Given the description of an element on the screen output the (x, y) to click on. 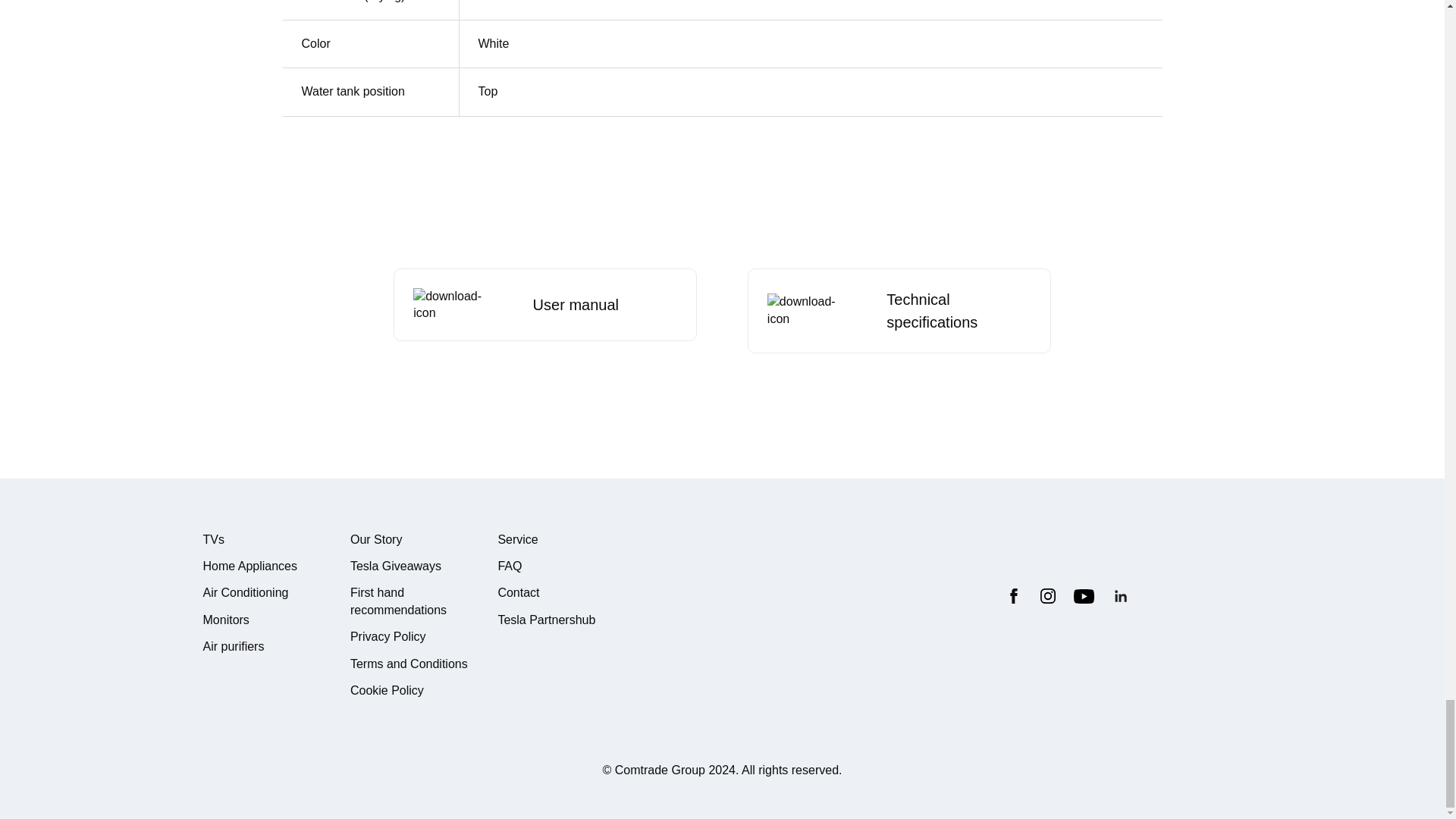
instagram (1048, 595)
youtube (1084, 595)
facebook (1014, 595)
